Given the description of an element on the screen output the (x, y) to click on. 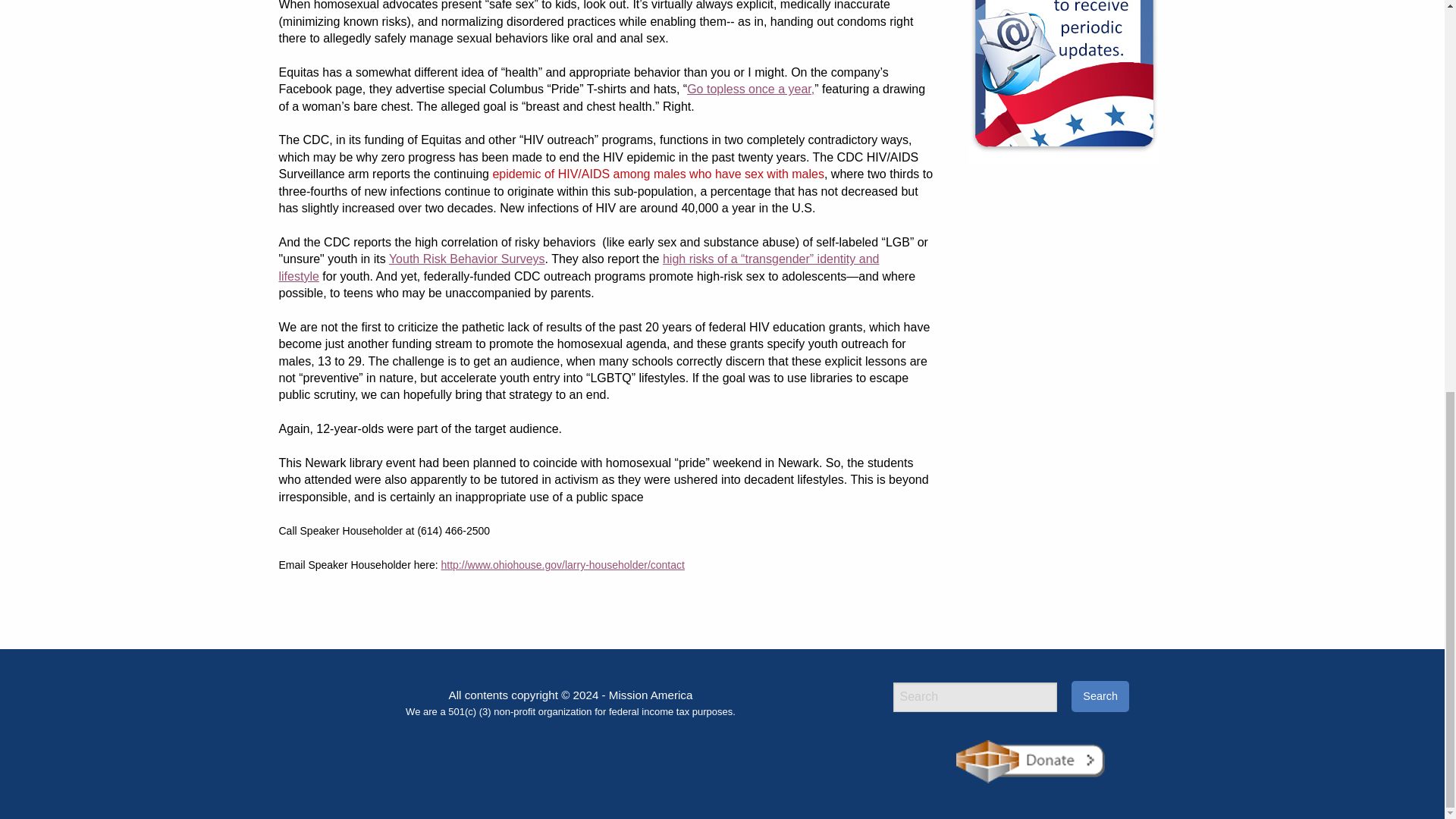
Go topless once a year, (750, 88)
